Given the description of an element on the screen output the (x, y) to click on. 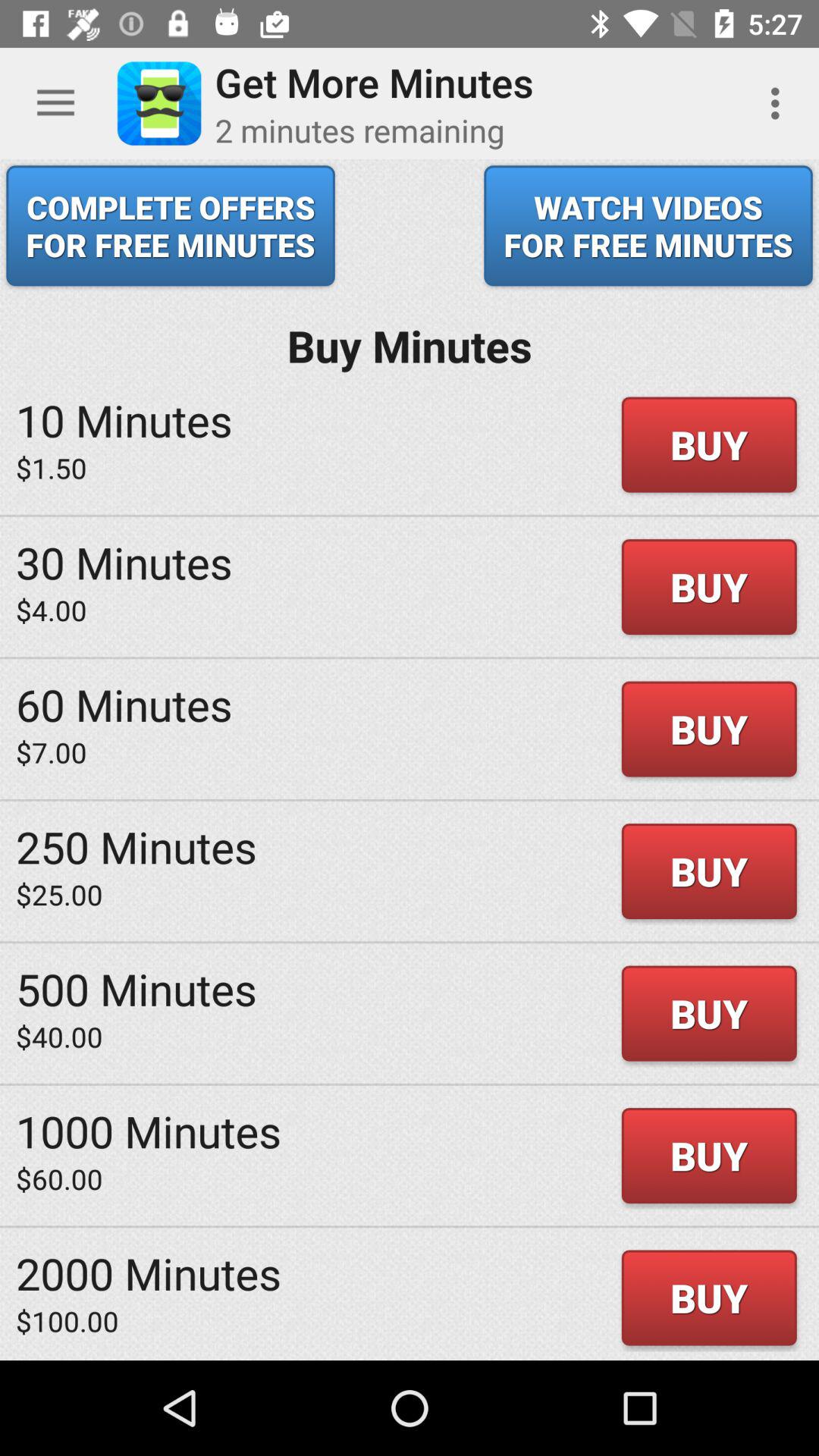
jump to the 30 minutes item (123, 561)
